Given the description of an element on the screen output the (x, y) to click on. 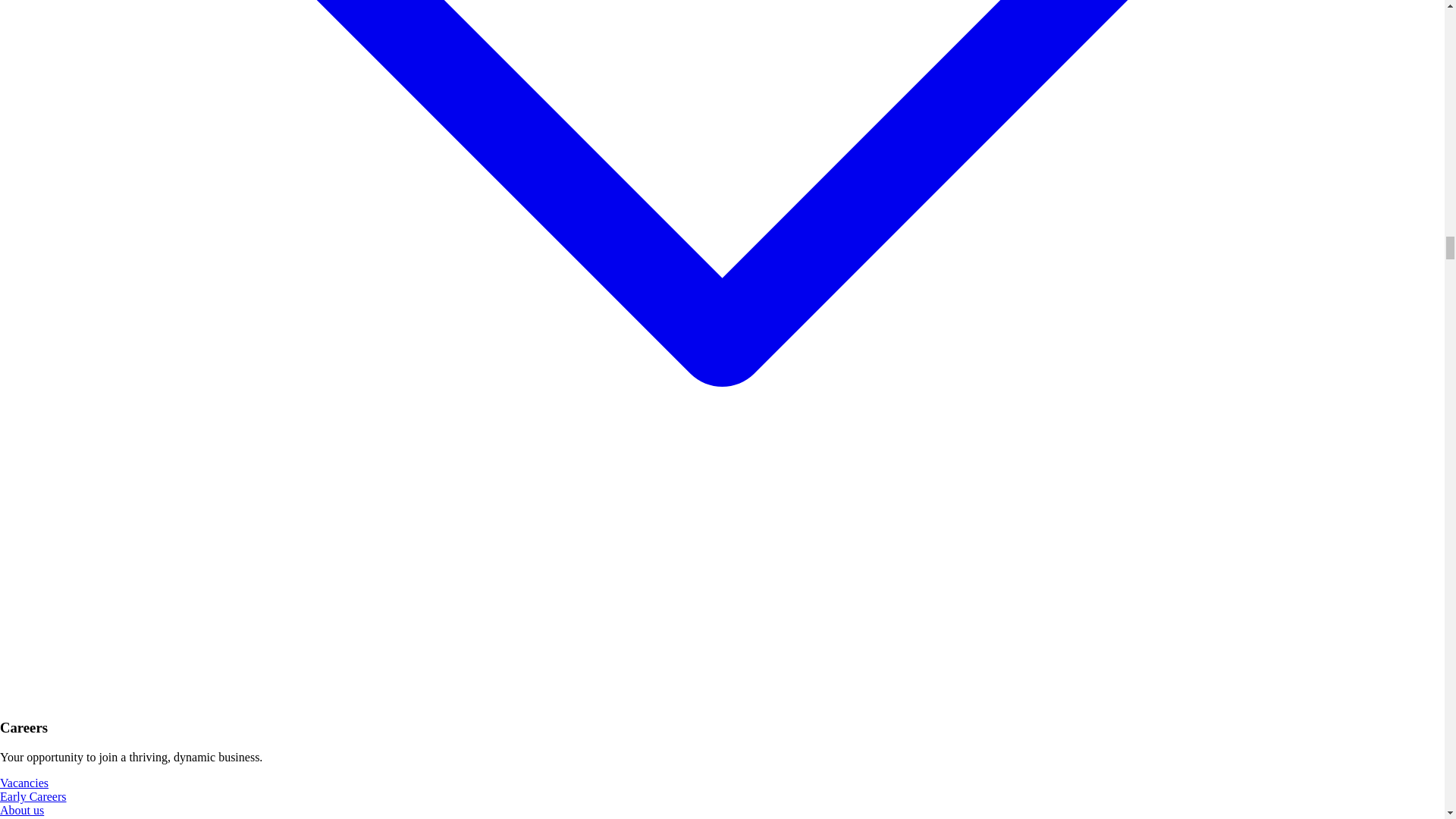
Vacancies (24, 782)
Early Careers (33, 796)
